Given the description of an element on the screen output the (x, y) to click on. 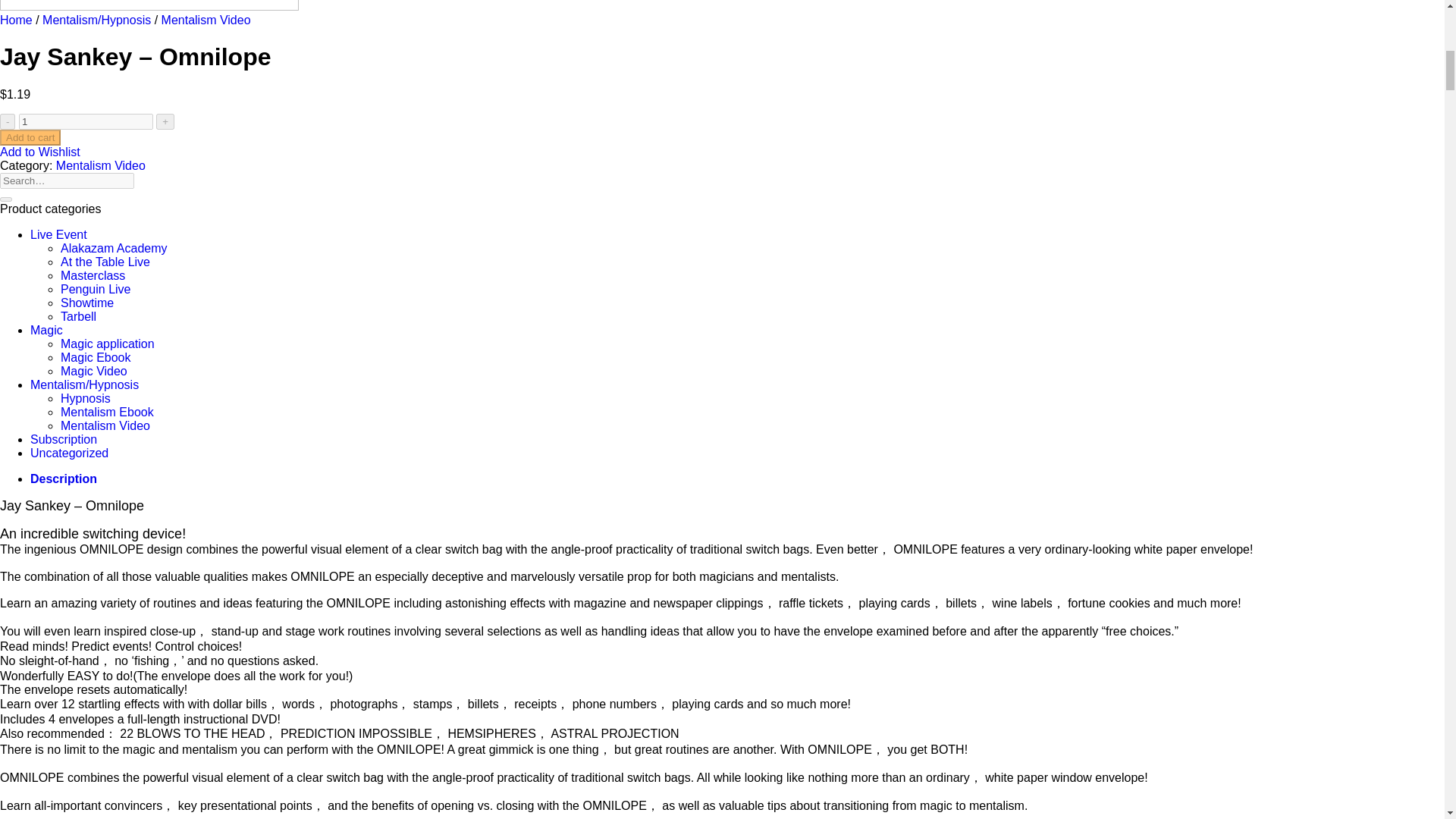
Mentalism Video (205, 19)
1 (85, 121)
Add to cart (30, 137)
Search (5, 199)
- (7, 121)
Mentalism Video (100, 164)
Home (16, 19)
Add to Wishlist (40, 151)
